Given the description of an element on the screen output the (x, y) to click on. 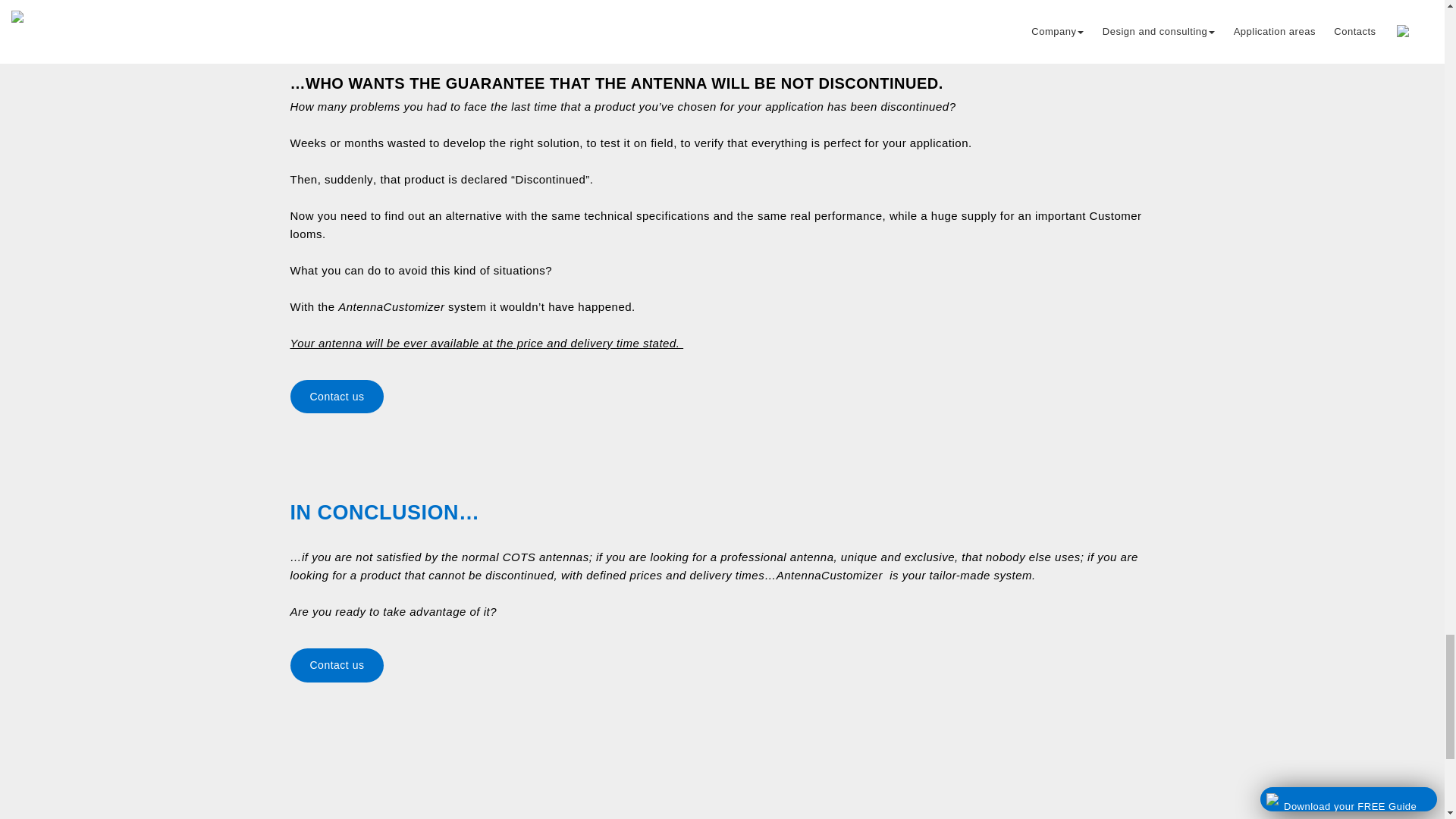
Contact us (721, 664)
Contact us (721, 395)
